Given the description of an element on the screen output the (x, y) to click on. 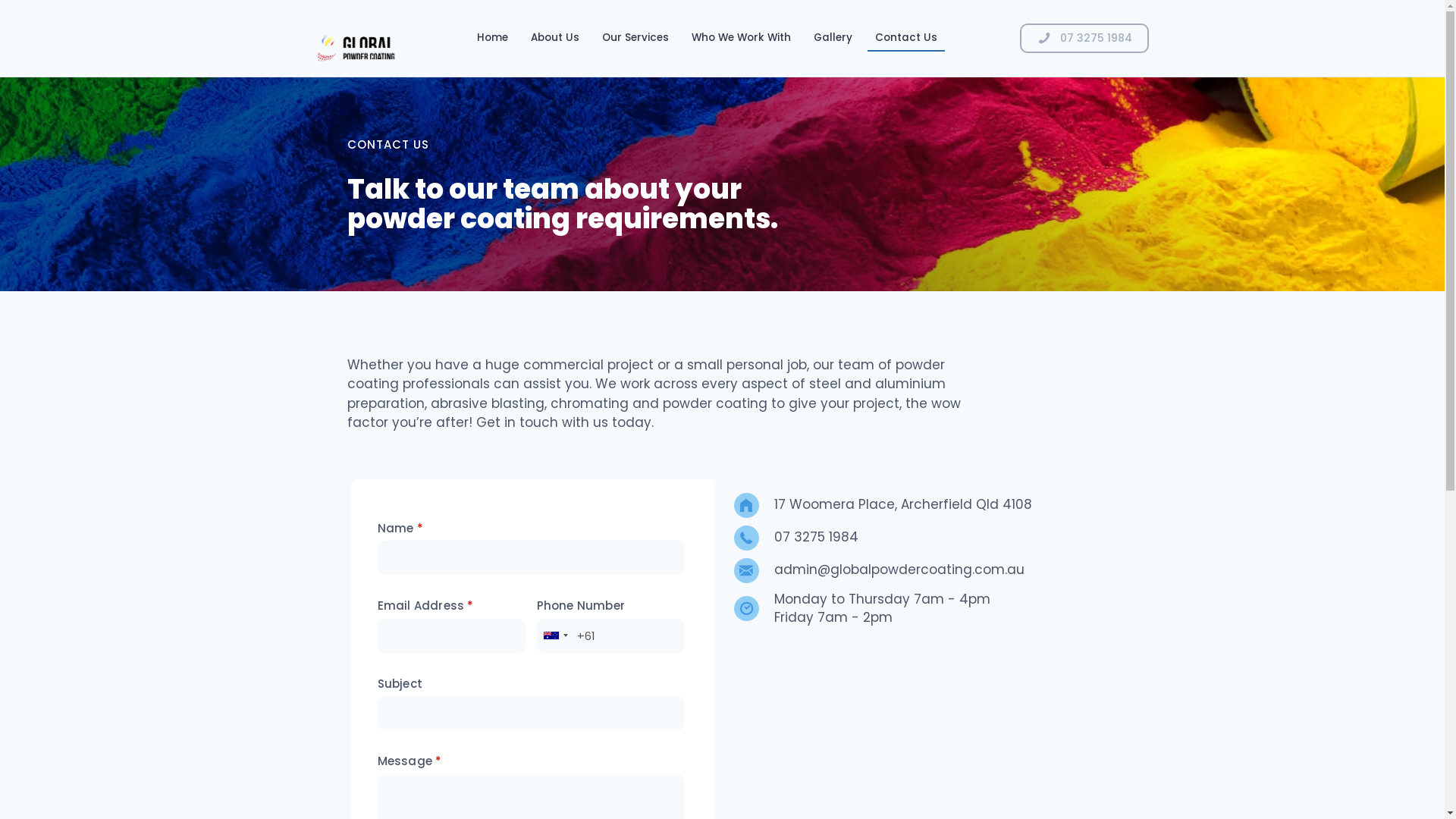
Who We Work With Element type: text (741, 38)
Contact Us Element type: text (905, 38)
About Us Element type: text (554, 38)
07 3275 1984 Element type: text (1084, 37)
07 3275 1984 Element type: text (815, 536)
Home Element type: text (492, 38)
17 Woomera Place, Archerfield Qld 4108 Element type: text (902, 504)
Australia: +61 Element type: hover (553, 635)
admin@globalpowdercoating.com.au Element type: text (898, 569)
Gallery Element type: text (832, 38)
Our Services Element type: text (635, 38)
GPC-Logo Animated Element type: hover (344, 38)
